Given the description of an element on the screen output the (x, y) to click on. 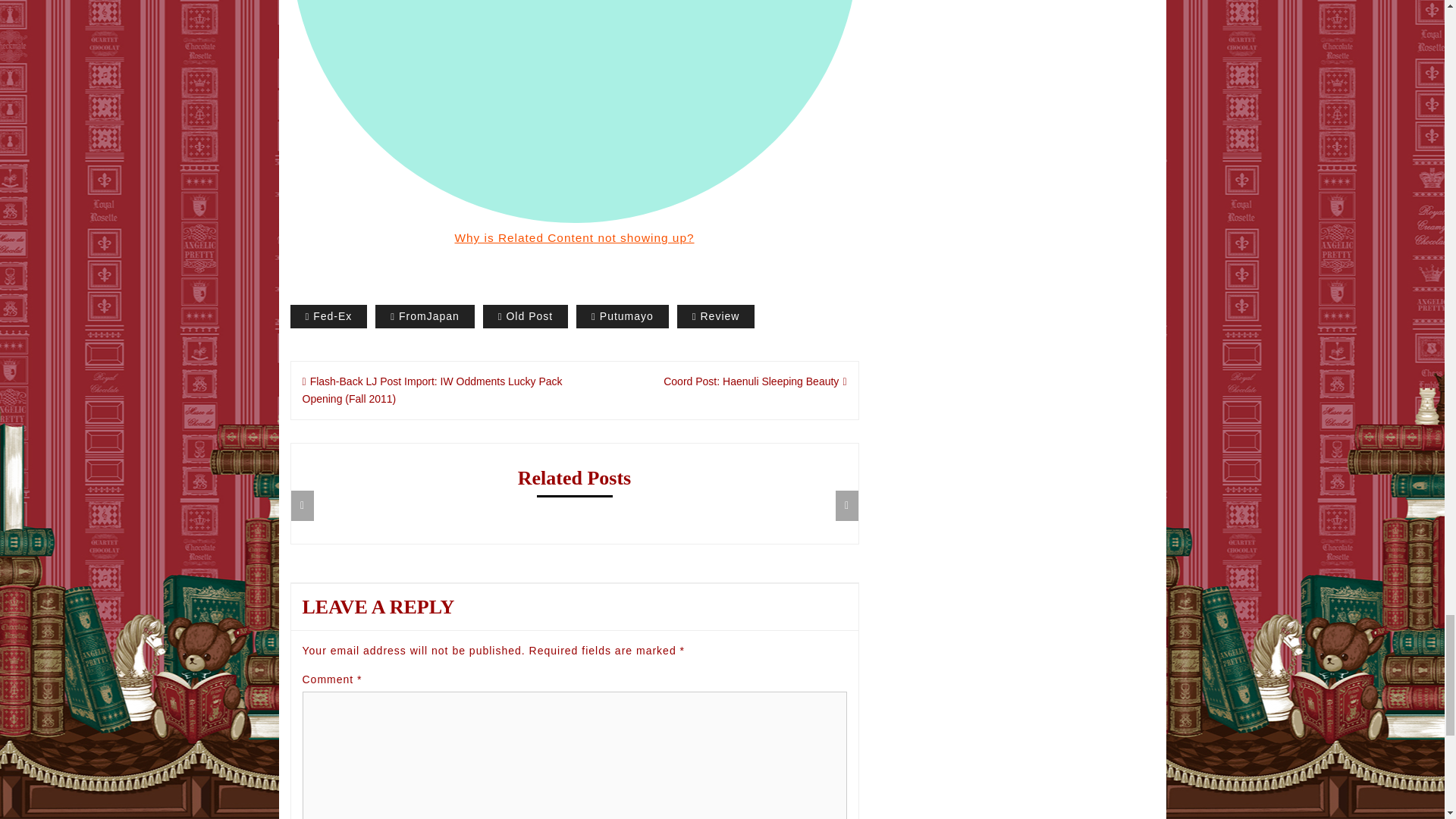
FromJapan (424, 316)
Fed-Ex (327, 316)
